Given the description of an element on the screen output the (x, y) to click on. 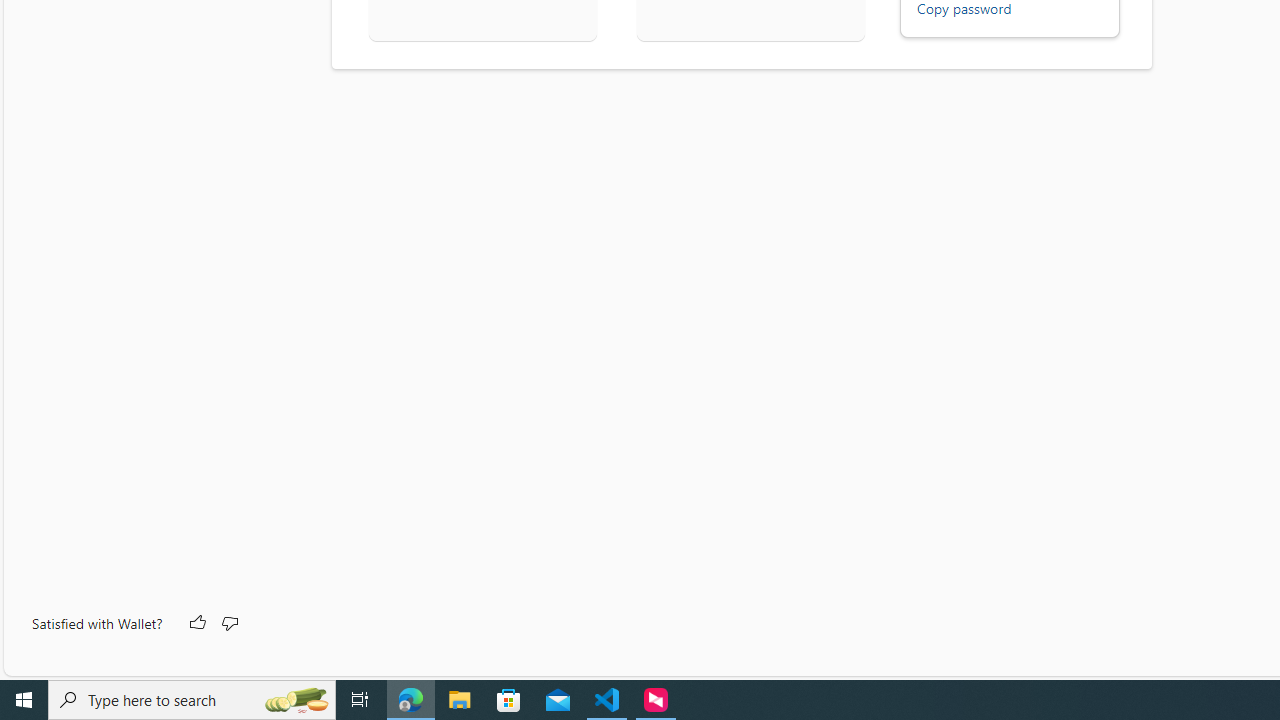
Dislike (228, 623)
Like (196, 623)
